Given the description of an element on the screen output the (x, y) to click on. 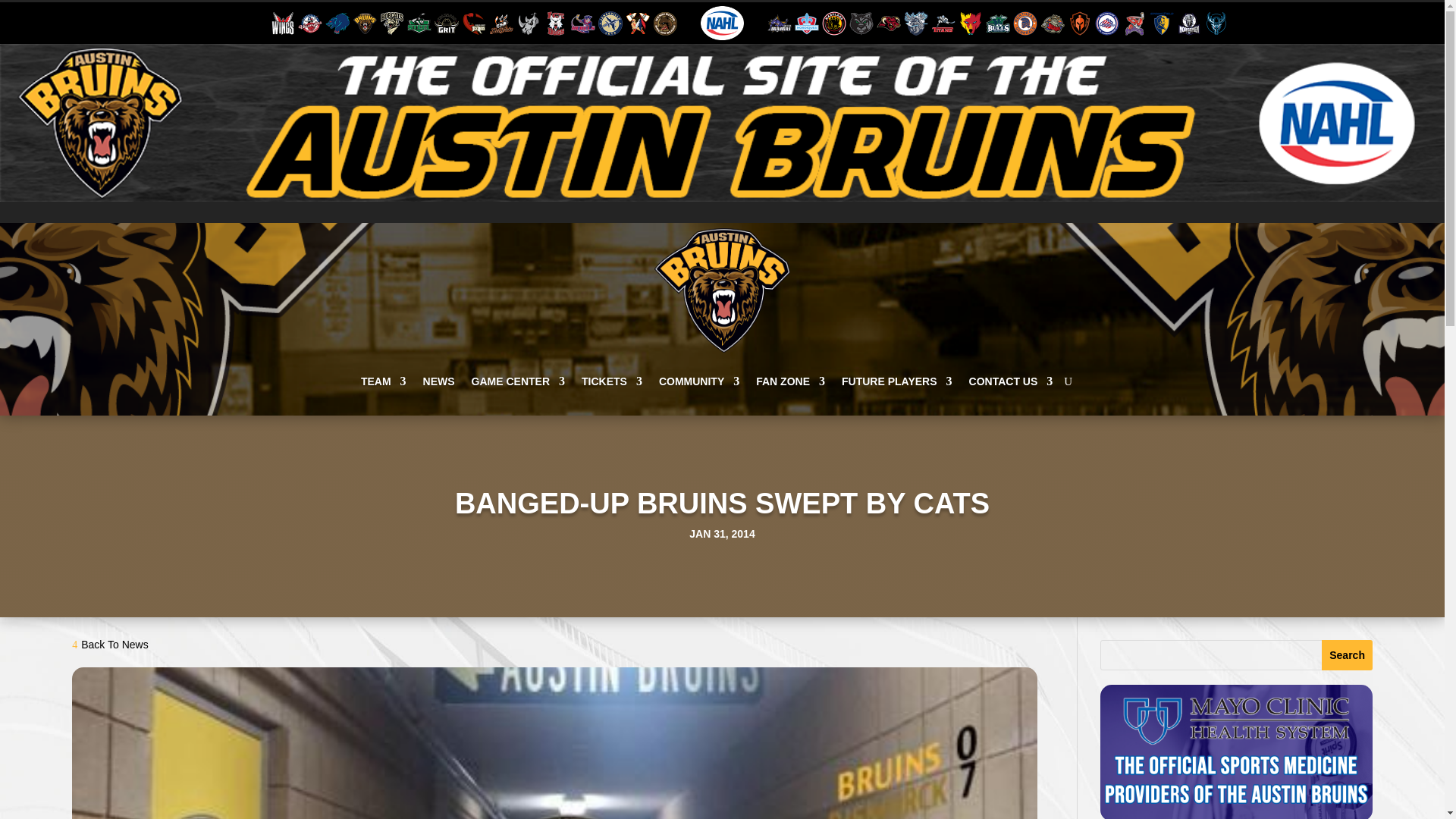
TEAM (383, 381)
Austin Bruins (364, 21)
Jamestown Rebels (582, 21)
Aberdeen Wings (283, 21)
Bismarck Bobcats (392, 21)
Janesville Jets (610, 21)
Fairbanks Ice Dogs (555, 21)
Corpus Christi Ice Rays (473, 21)
El Paso Rhinos (528, 21)
Anchorage Wolverines (336, 21)
NEWS (438, 381)
Chippewa Steel (419, 21)
Amarillo Wranglers (310, 21)
Colorado Grit (446, 21)
Lone Star Brahmas (779, 21)
